Given the description of an element on the screen output the (x, y) to click on. 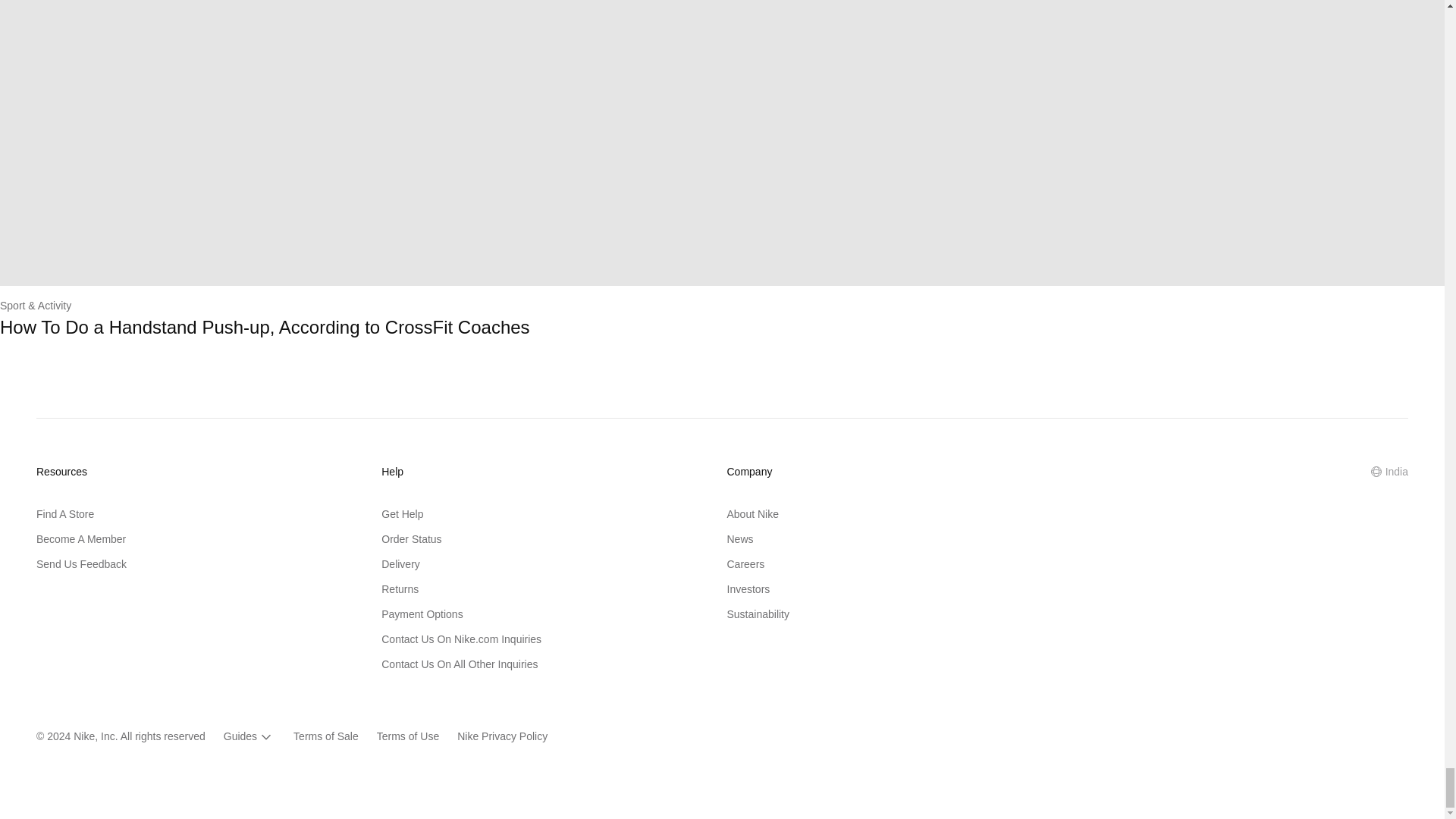
Selected Location: India (1388, 471)
